Given the description of an element on the screen output the (x, y) to click on. 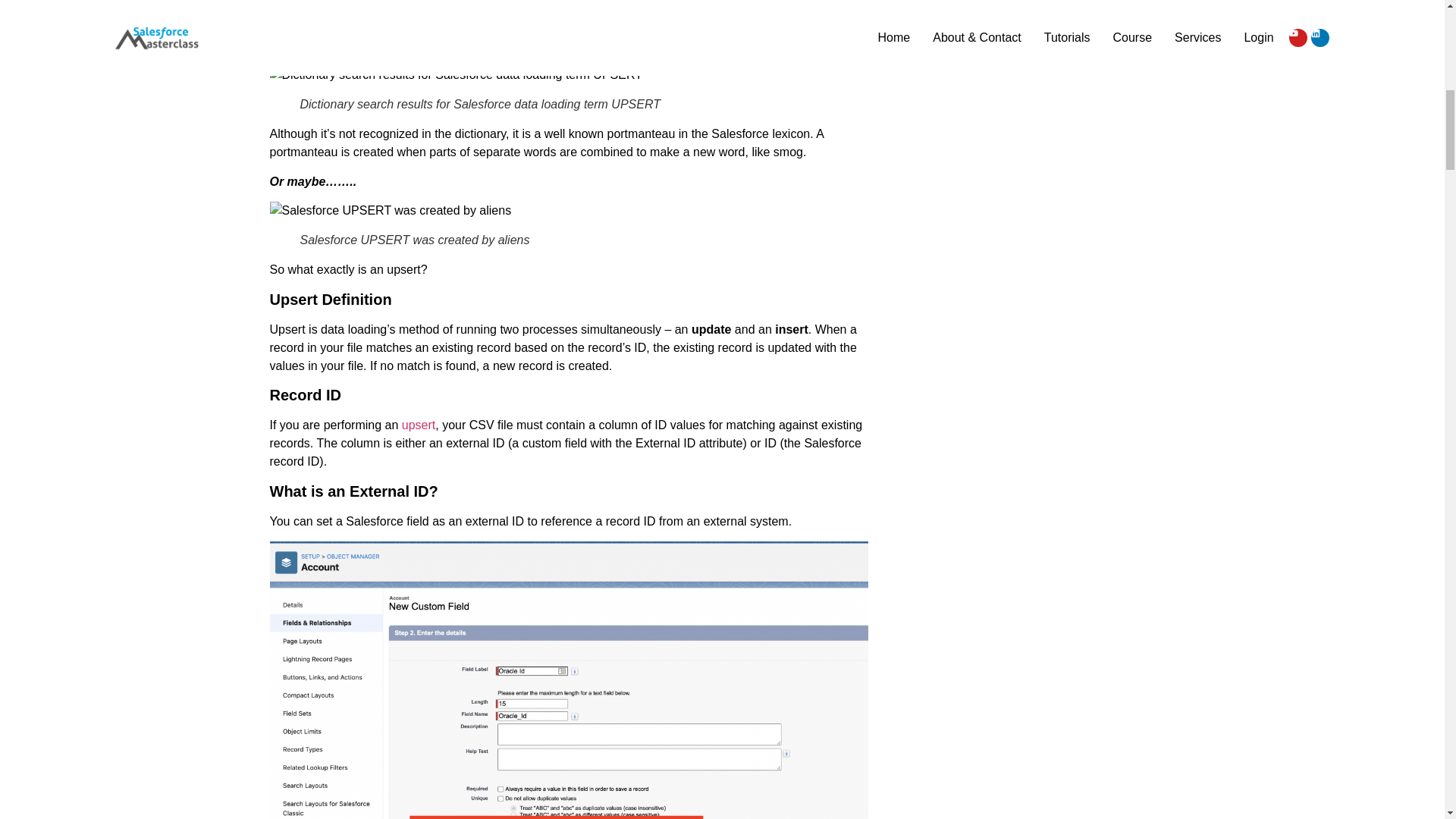
upsert (418, 424)
